Given the description of an element on the screen output the (x, y) to click on. 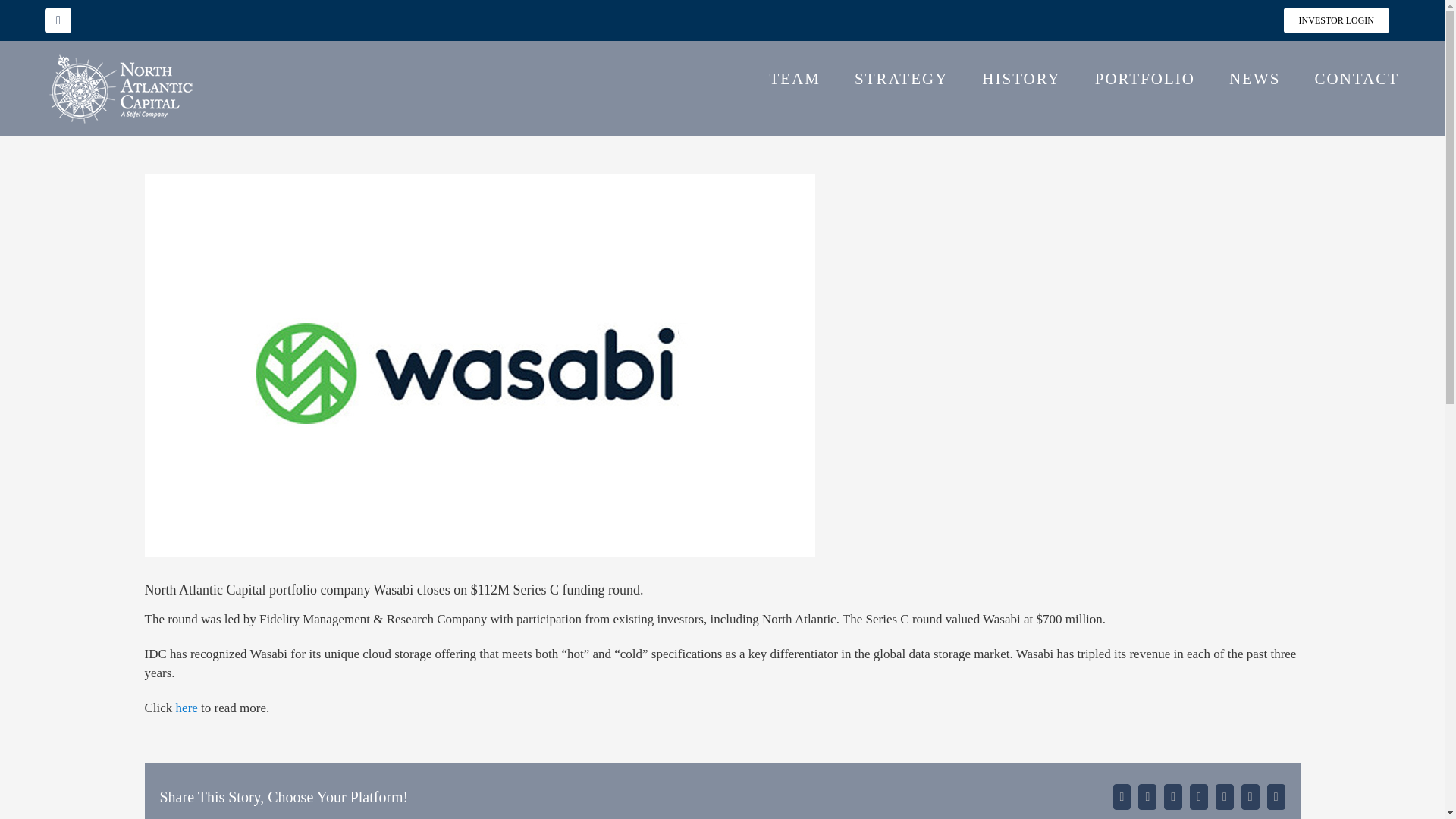
CONTACT (1356, 77)
PORTFOLIO (1144, 77)
TEAM (794, 77)
INVESTOR LOGIN (1336, 20)
NEWS (1254, 77)
here (187, 707)
LinkedIn (58, 20)
NEWS (1254, 77)
LinkedIn (58, 20)
HISTORY (1020, 77)
